Given the description of an element on the screen output the (x, y) to click on. 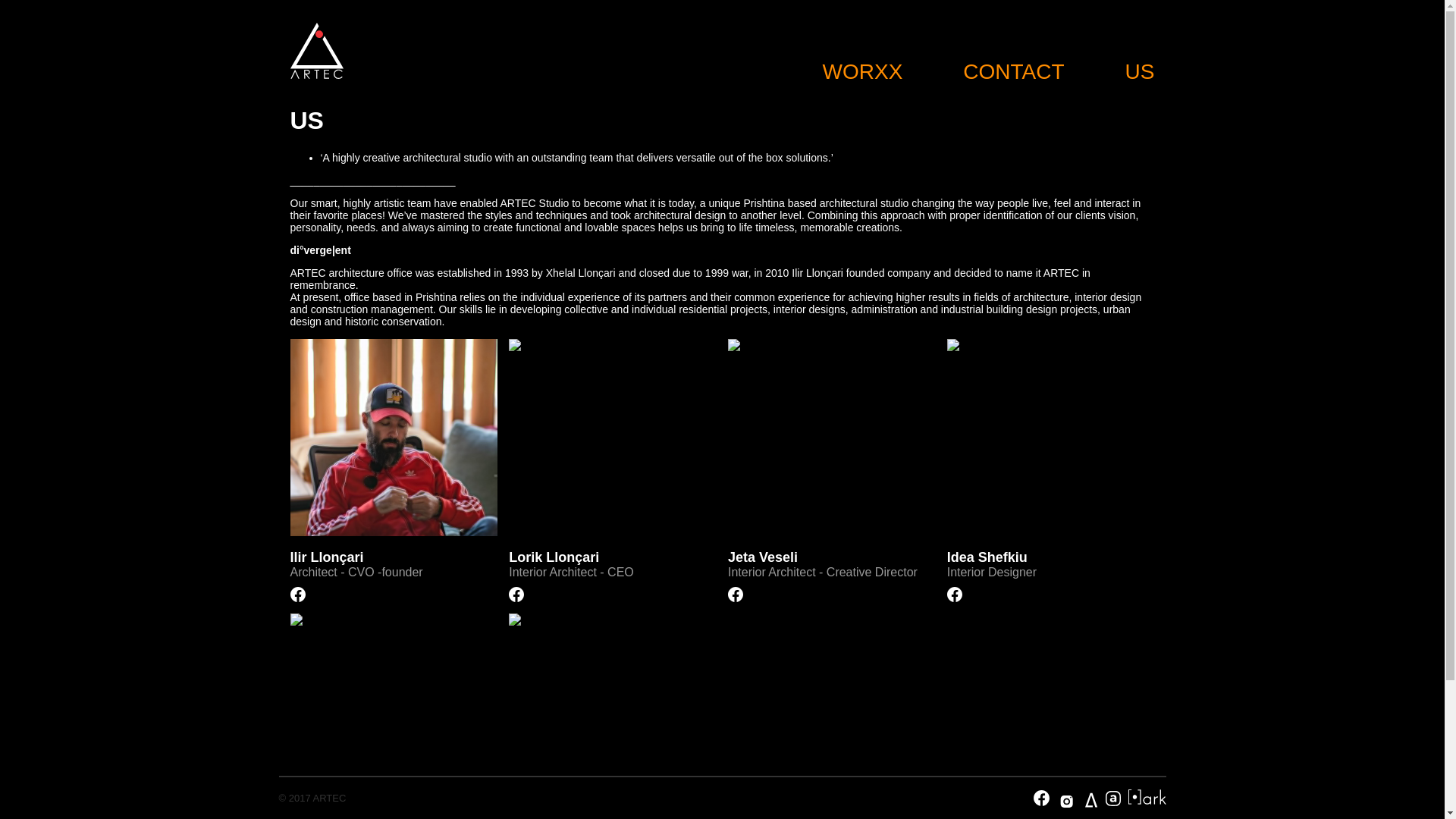
US (1139, 71)
WORXX (862, 71)
CONTACT (1013, 71)
